Given the description of an element on the screen output the (x, y) to click on. 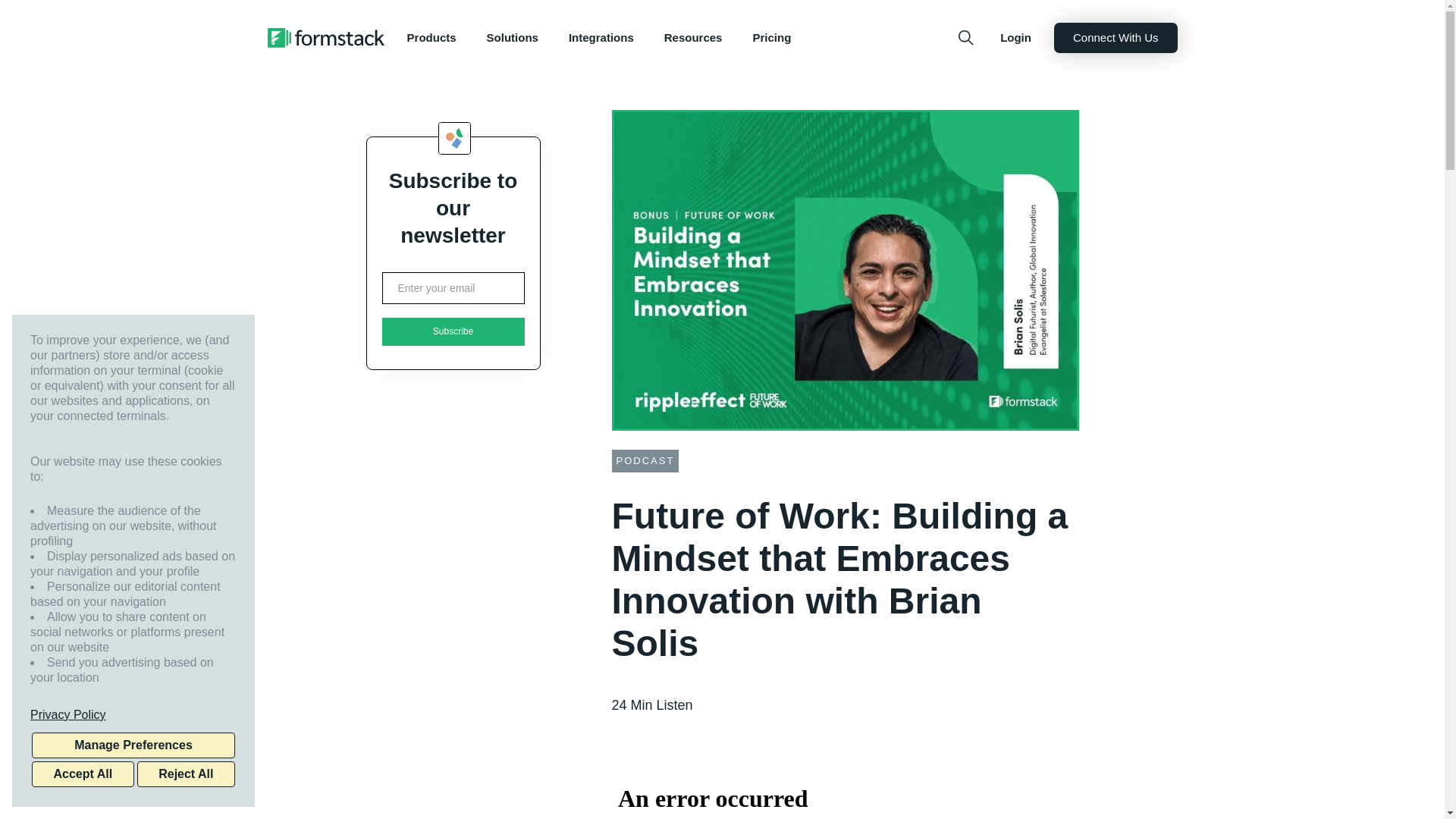
Solutions (512, 37)
Reject All (185, 774)
Manage Preferences (133, 745)
Products (431, 37)
Privacy Policy (132, 714)
Subscribe (452, 331)
Accept All (82, 774)
